Given the description of an element on the screen output the (x, y) to click on. 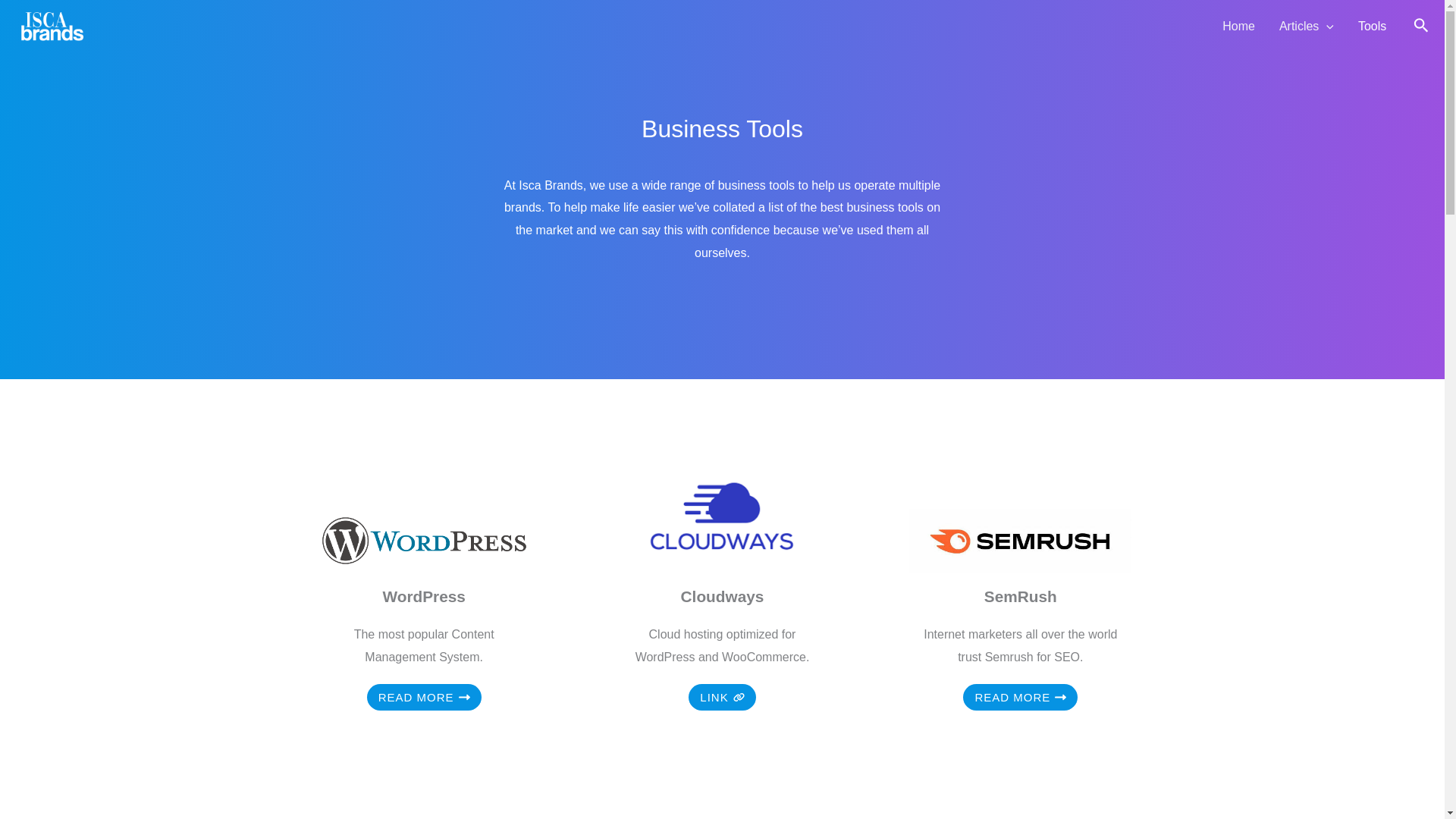
READ MORE (1019, 696)
Articles (1305, 26)
Home (1237, 26)
LINK (721, 696)
READ MORE (423, 696)
Tools (1371, 26)
